Given the description of an element on the screen output the (x, y) to click on. 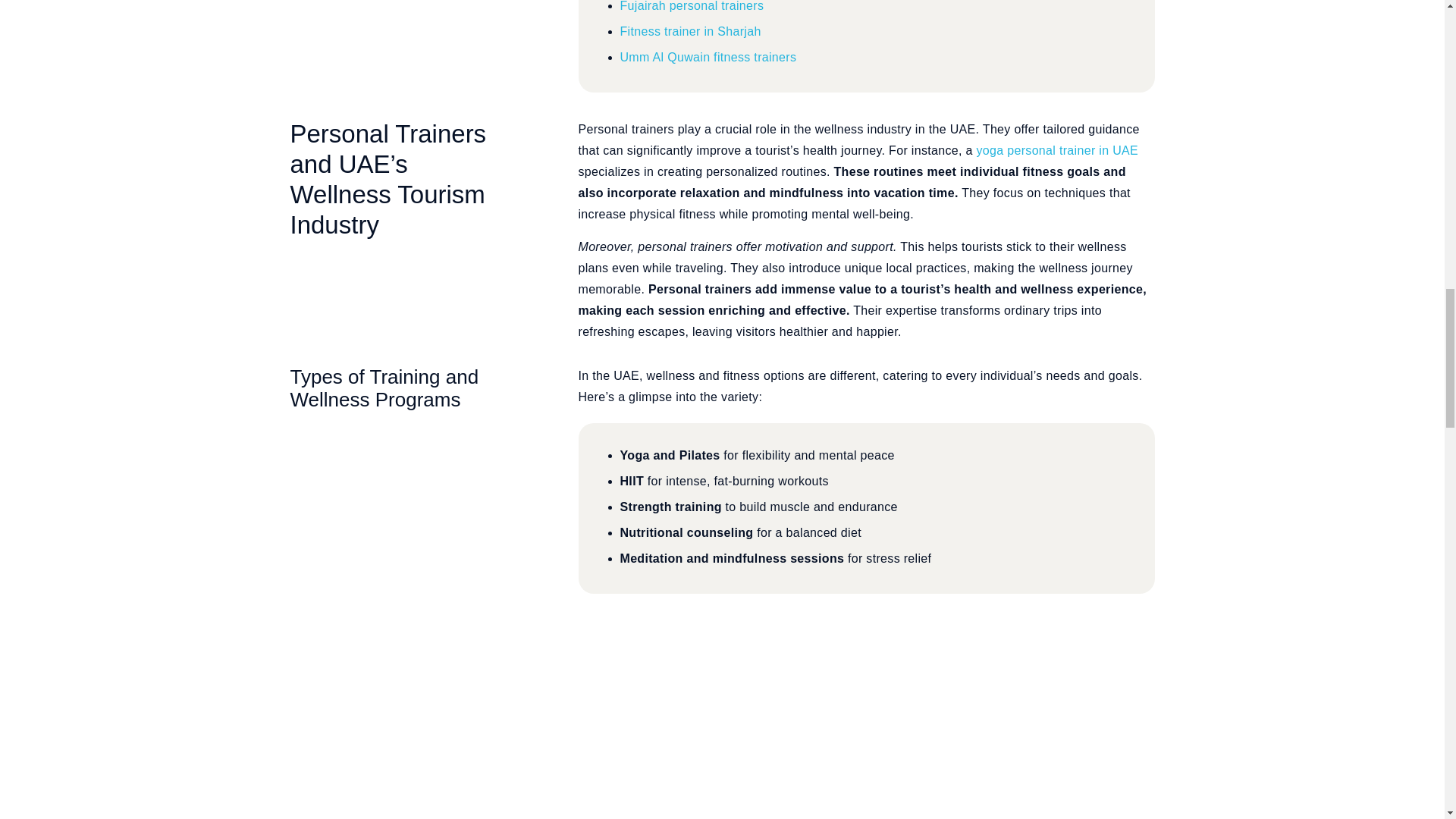
Fitness trainer in Sharjah (690, 31)
yoga personal trainer in UAE (1057, 150)
Umm Al Quwain fitness trainers (708, 56)
Fujairah personal trainers (692, 6)
